Given the description of an element on the screen output the (x, y) to click on. 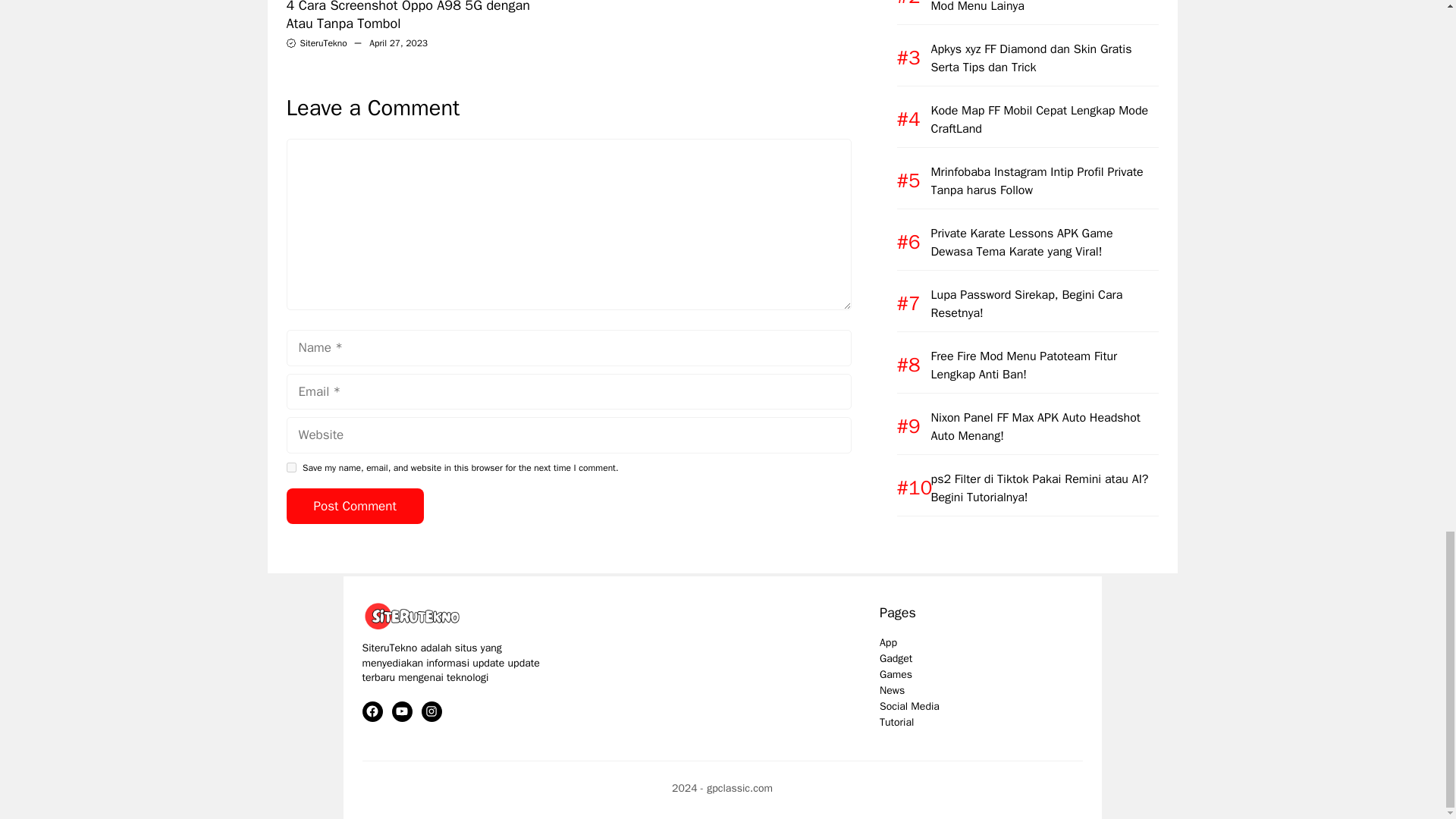
SiteruTekno (323, 42)
Post Comment (354, 506)
4 Cara Screenshot Oppo A98 5G dengan Atau Tanpa Tombol (407, 15)
SiteruTekno.com (415, 615)
yes (291, 467)
Post Comment (354, 506)
